Given the description of an element on the screen output the (x, y) to click on. 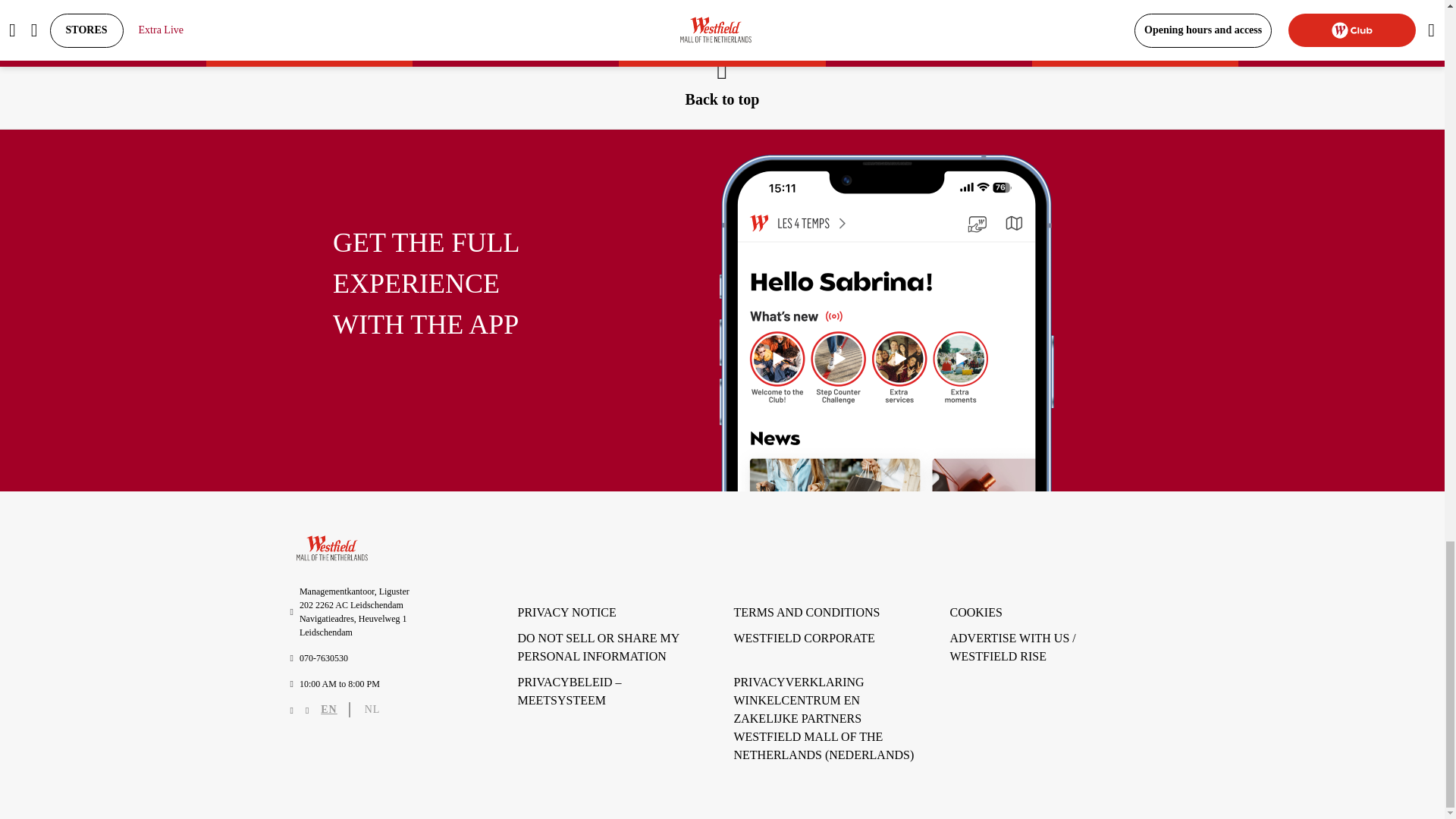
Westfield Mall of the Netherlands (330, 548)
android app (886, 322)
